Given the description of an element on the screen output the (x, y) to click on. 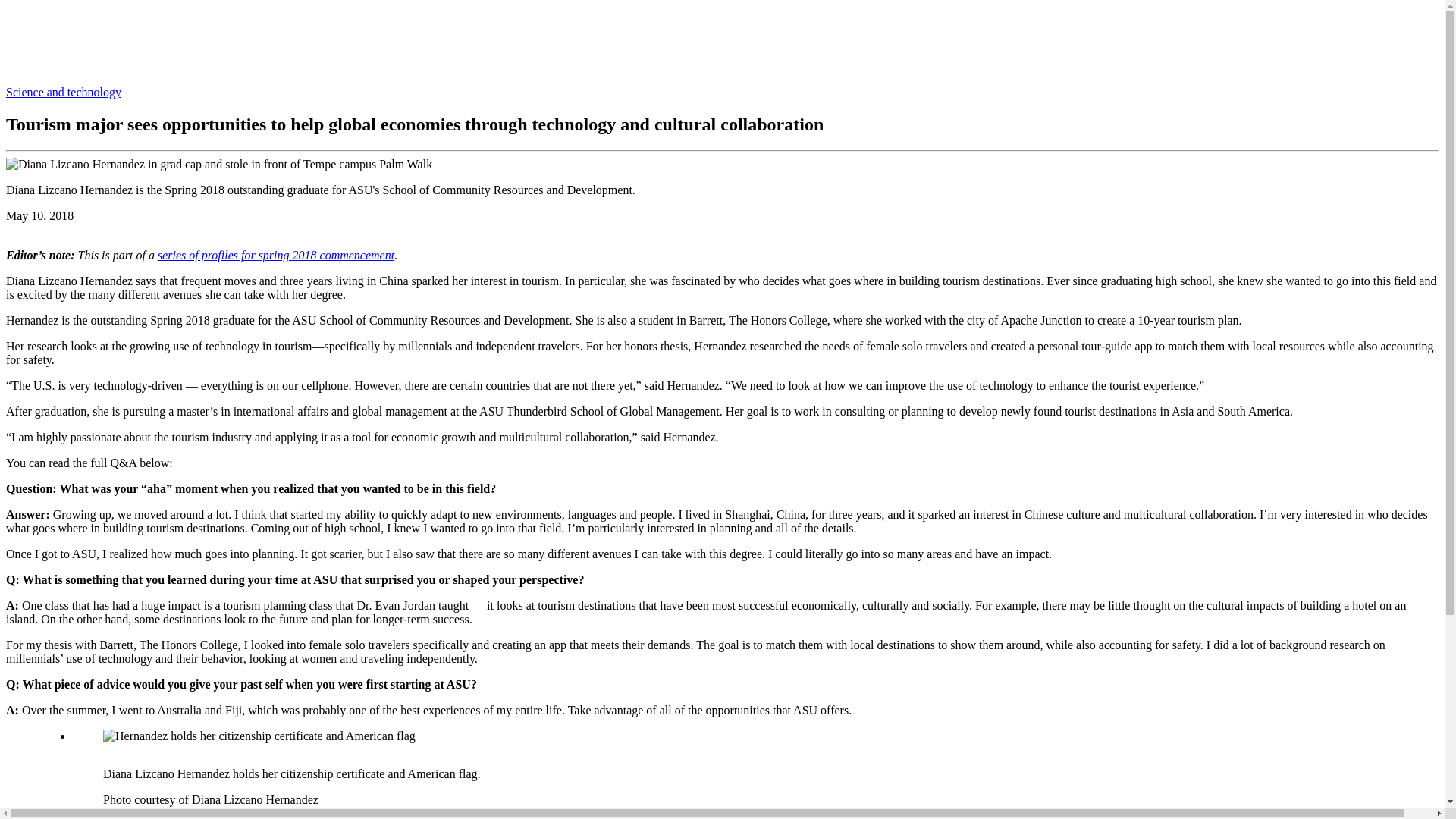
Science and technology (62, 91)
series of profiles for spring 2018 commencement (275, 254)
